Given the description of an element on the screen output the (x, y) to click on. 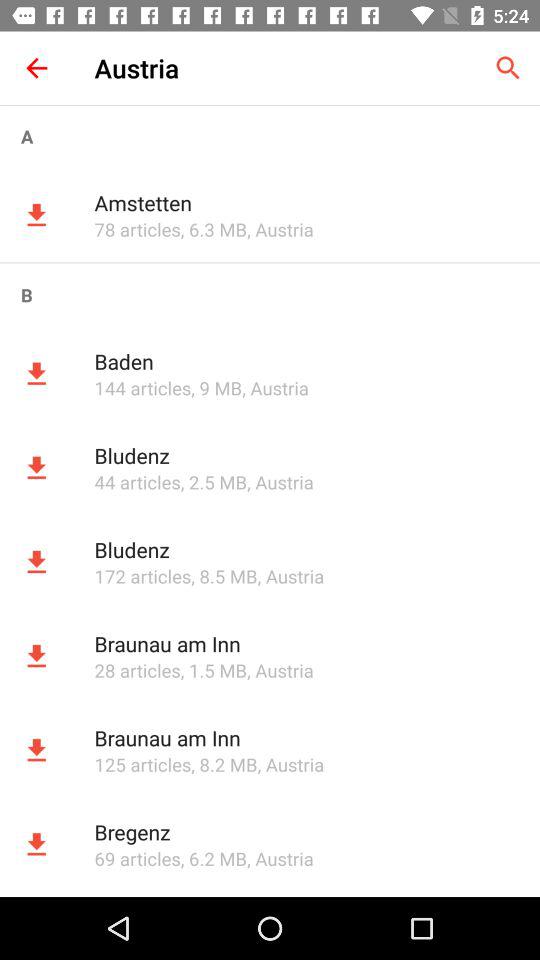
tap the 28 articles app (137, 670)
